Given the description of an element on the screen output the (x, y) to click on. 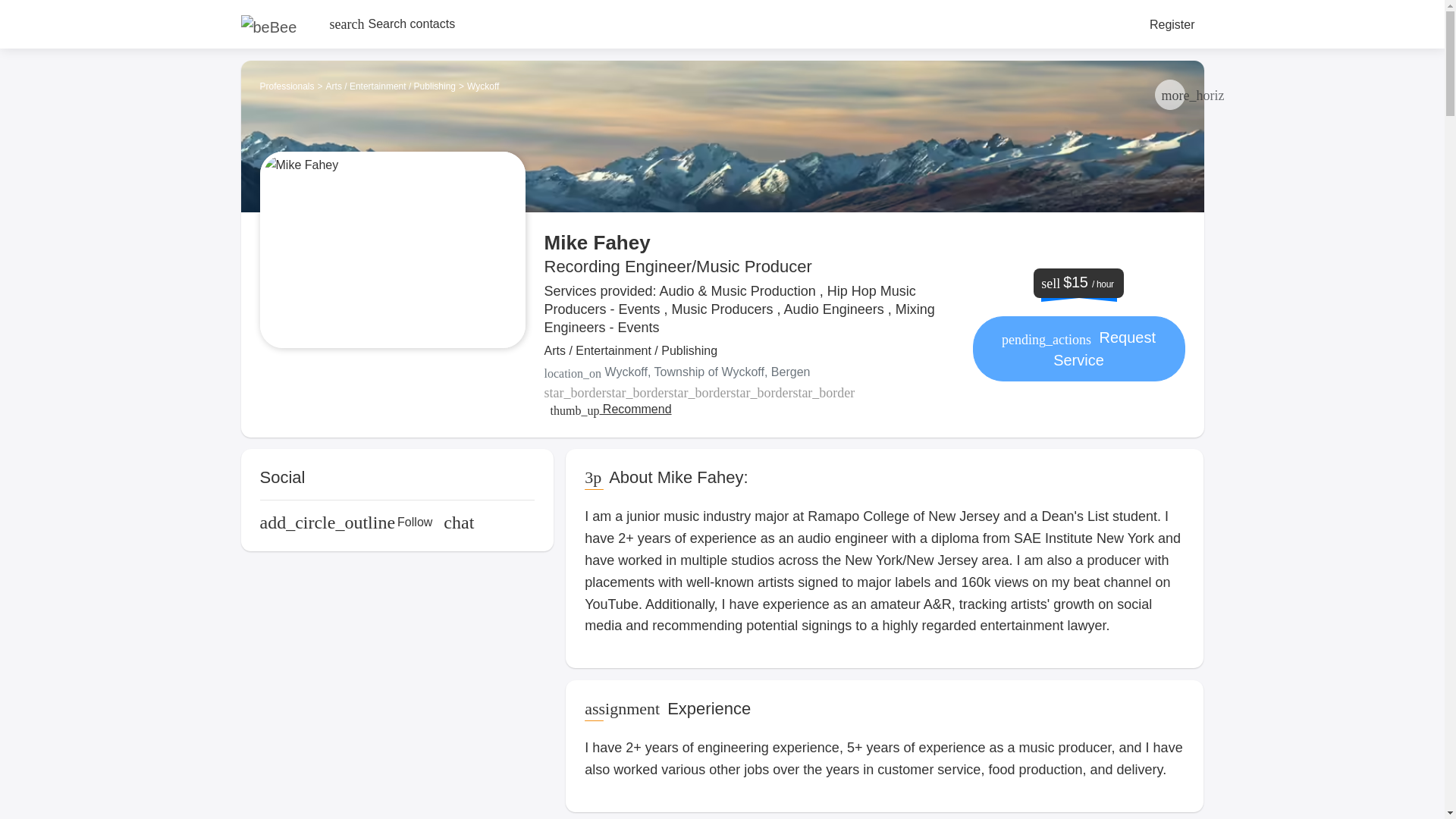
Follow (345, 522)
Search contacts (392, 24)
Recommend (610, 409)
Register (1172, 24)
Professionals (286, 86)
Wyckoff, Township of Wyckoff, Bergen (748, 372)
Request Service (1078, 348)
